Given the description of an element on the screen output the (x, y) to click on. 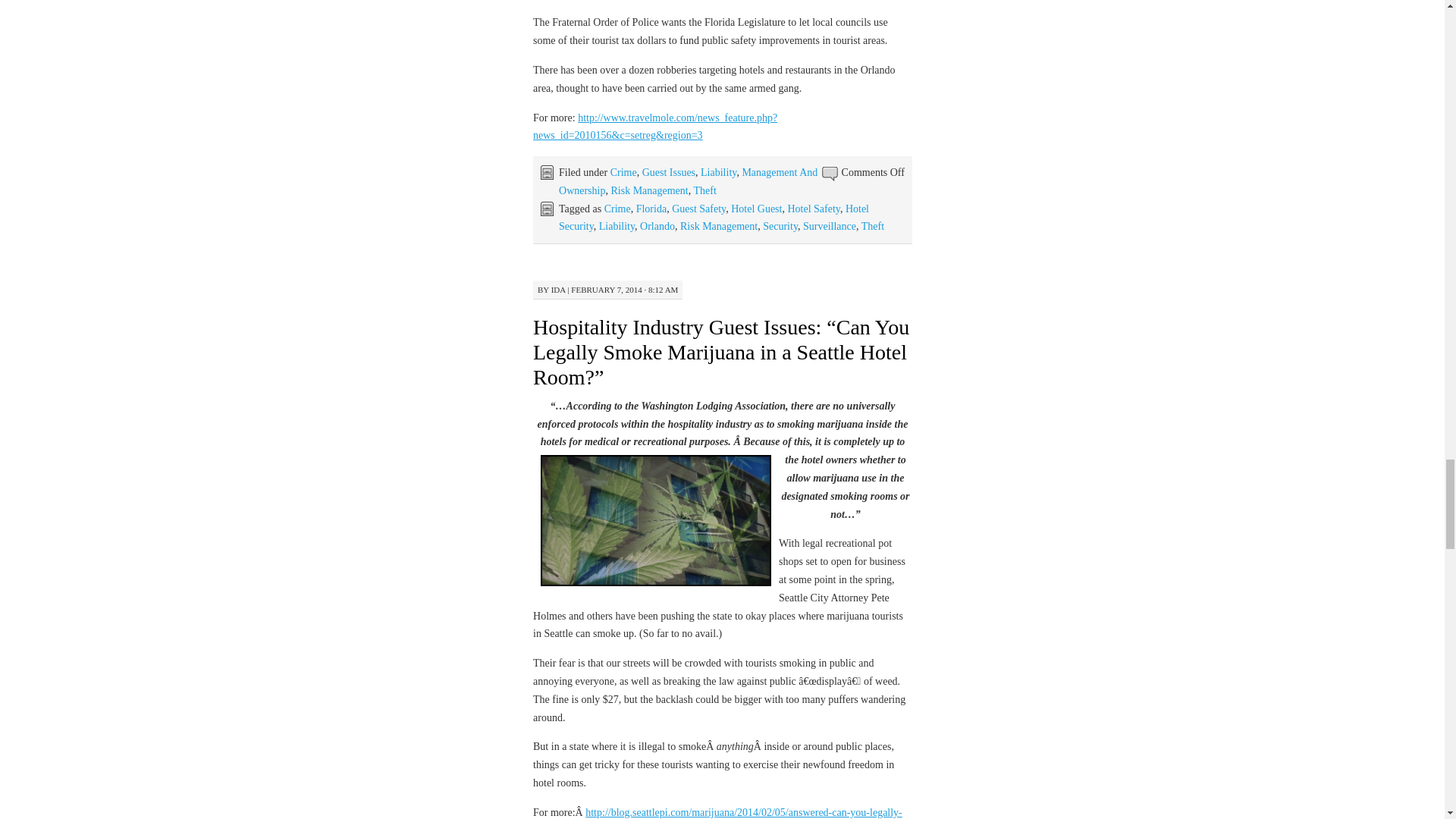
View all posts by Ida (558, 289)
